Given the description of an element on the screen output the (x, y) to click on. 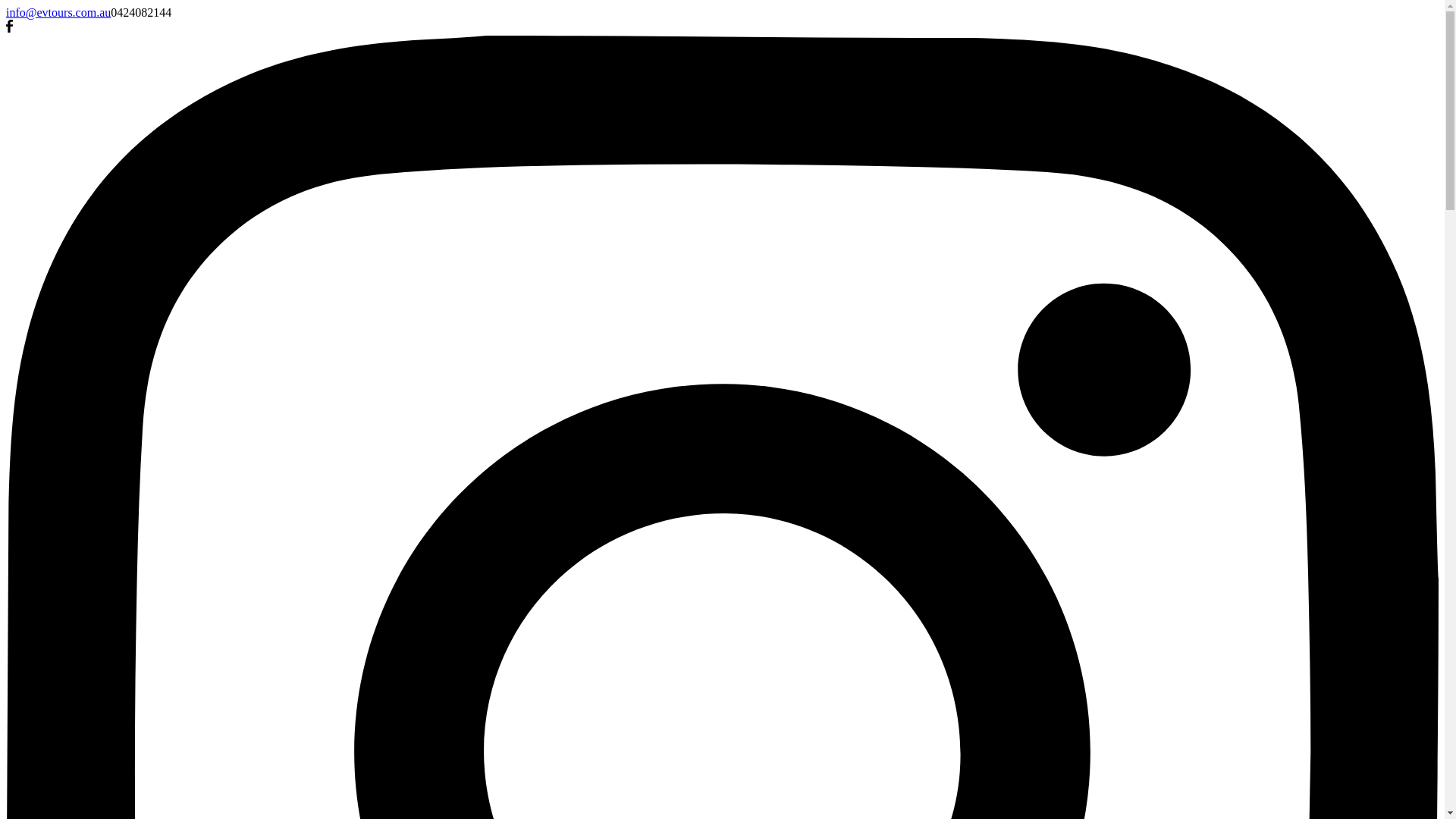
info@evtours.com.au Element type: text (58, 12)
A link to this website's Facebook. Element type: hover (9, 27)
